Given the description of an element on the screen output the (x, y) to click on. 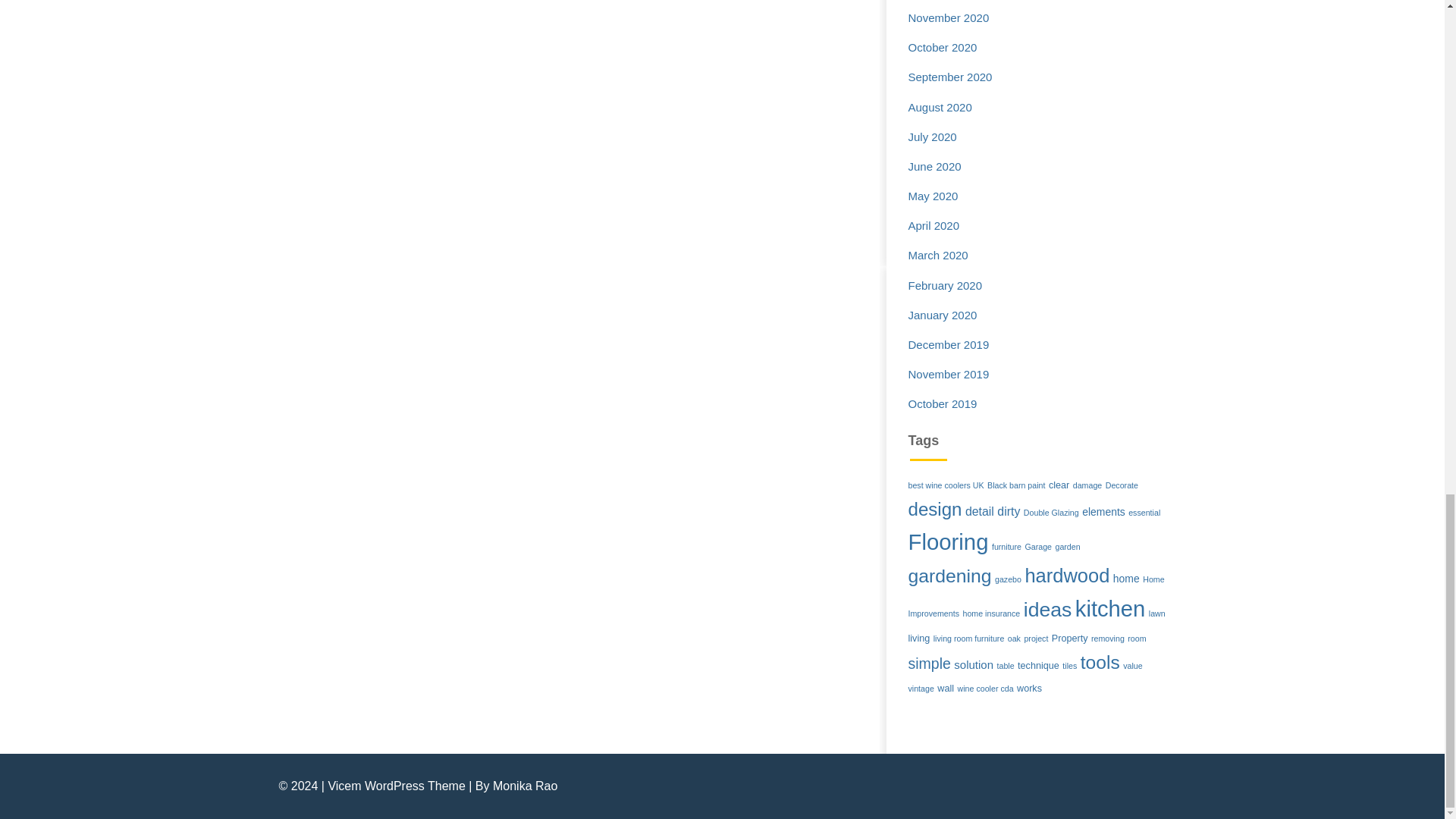
November 2020 (949, 17)
